Given the description of an element on the screen output the (x, y) to click on. 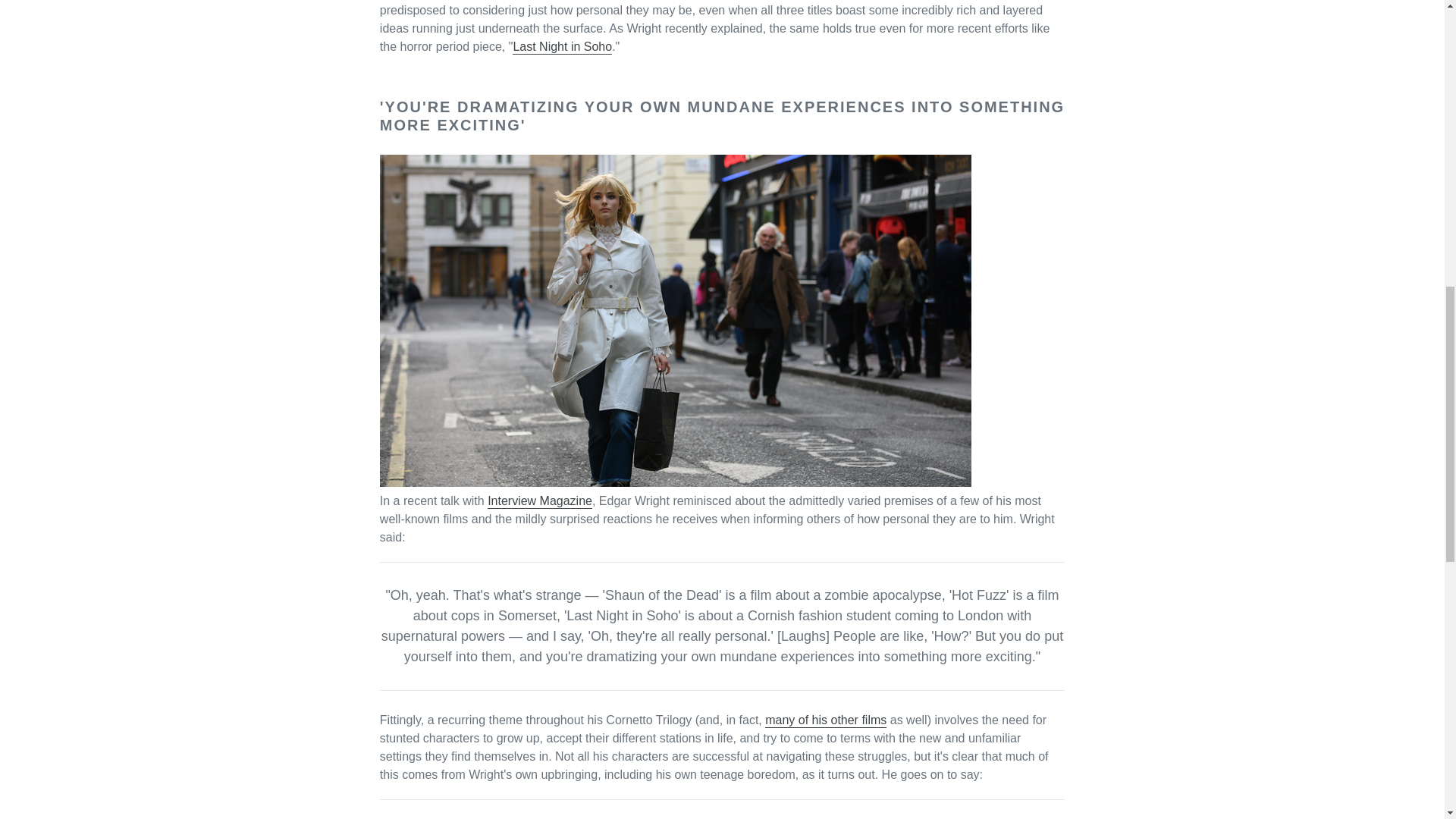
Last Night in Soho (561, 47)
many of his other films (825, 720)
Interview Magazine (539, 501)
